Given the description of an element on the screen output the (x, y) to click on. 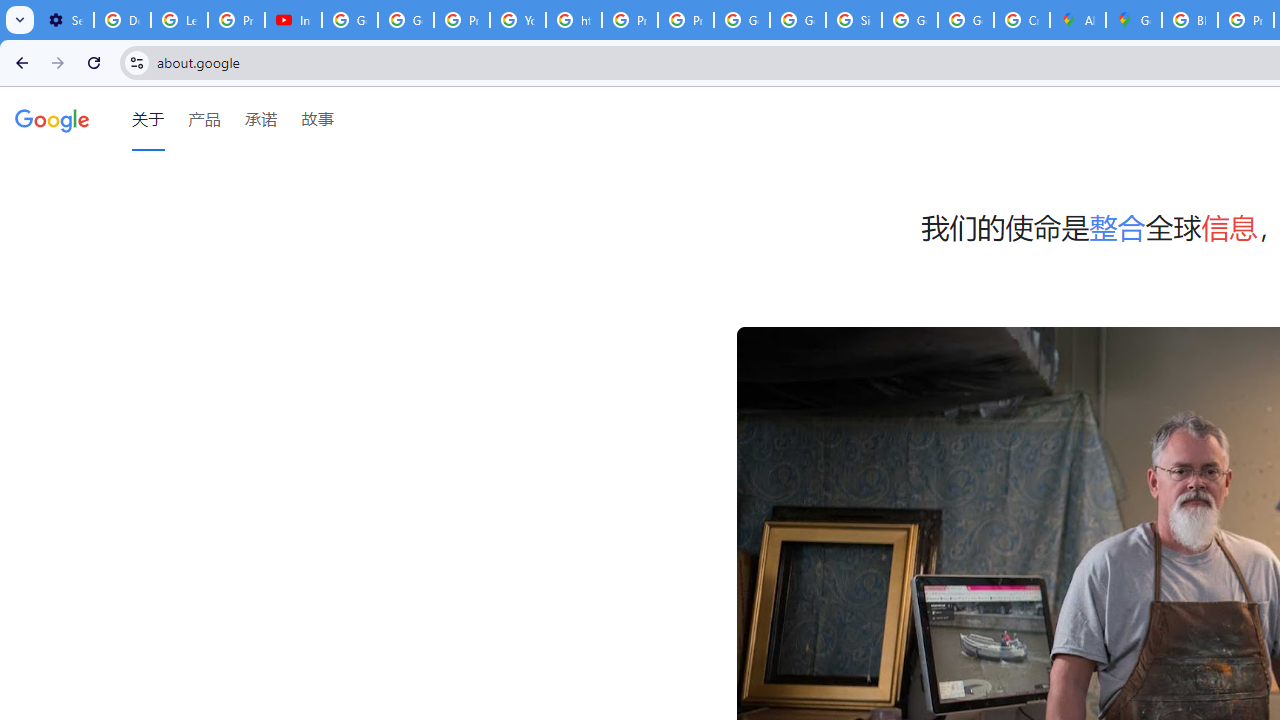
Google Maps (1133, 20)
Google Account Help (349, 20)
YouTube (518, 20)
Learn how to find your photos - Google Photos Help (179, 20)
